Given the description of an element on the screen output the (x, y) to click on. 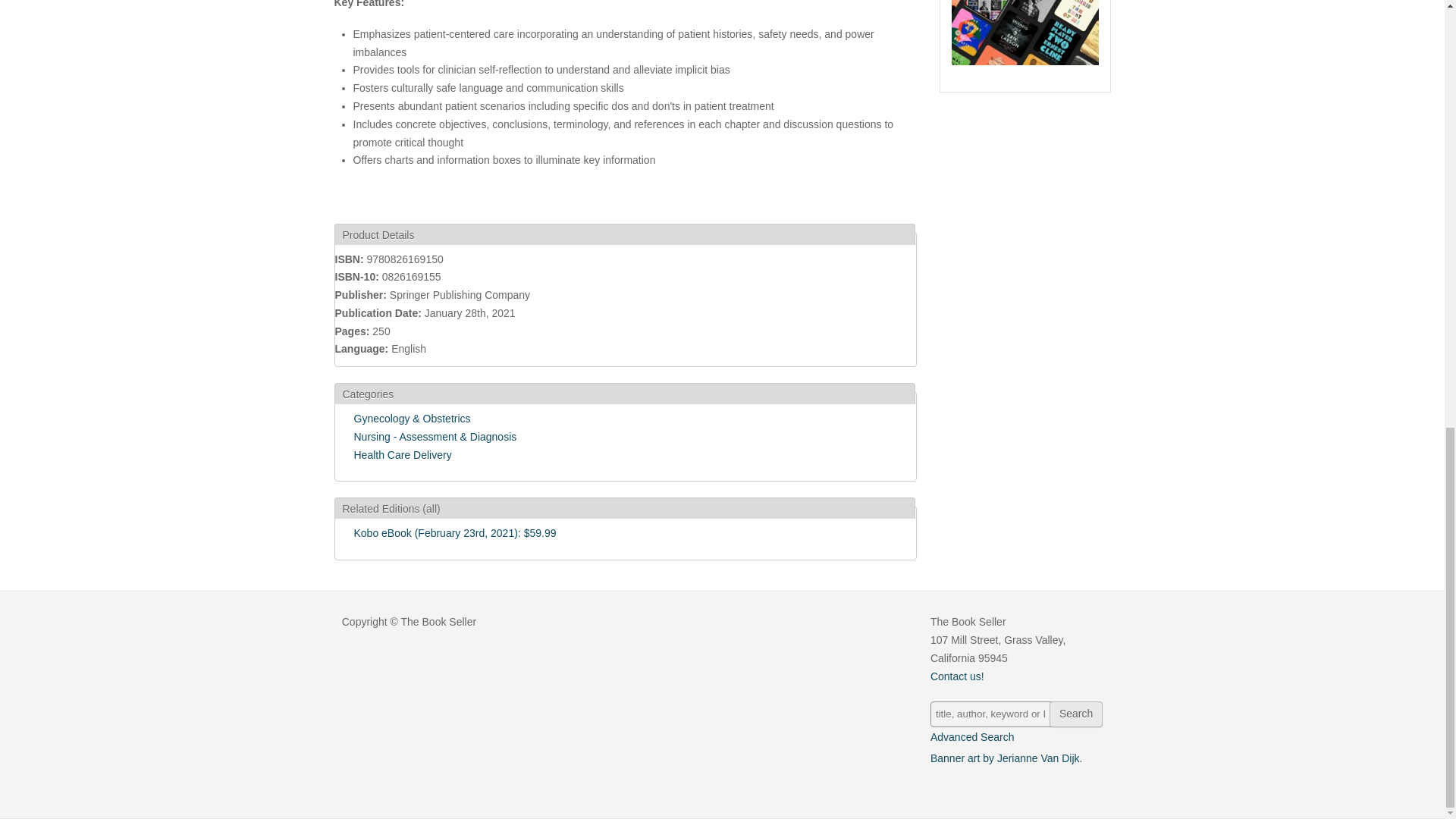
Search (1075, 714)
Enter the terms you wish to search for. (1016, 714)
